Given the description of an element on the screen output the (x, y) to click on. 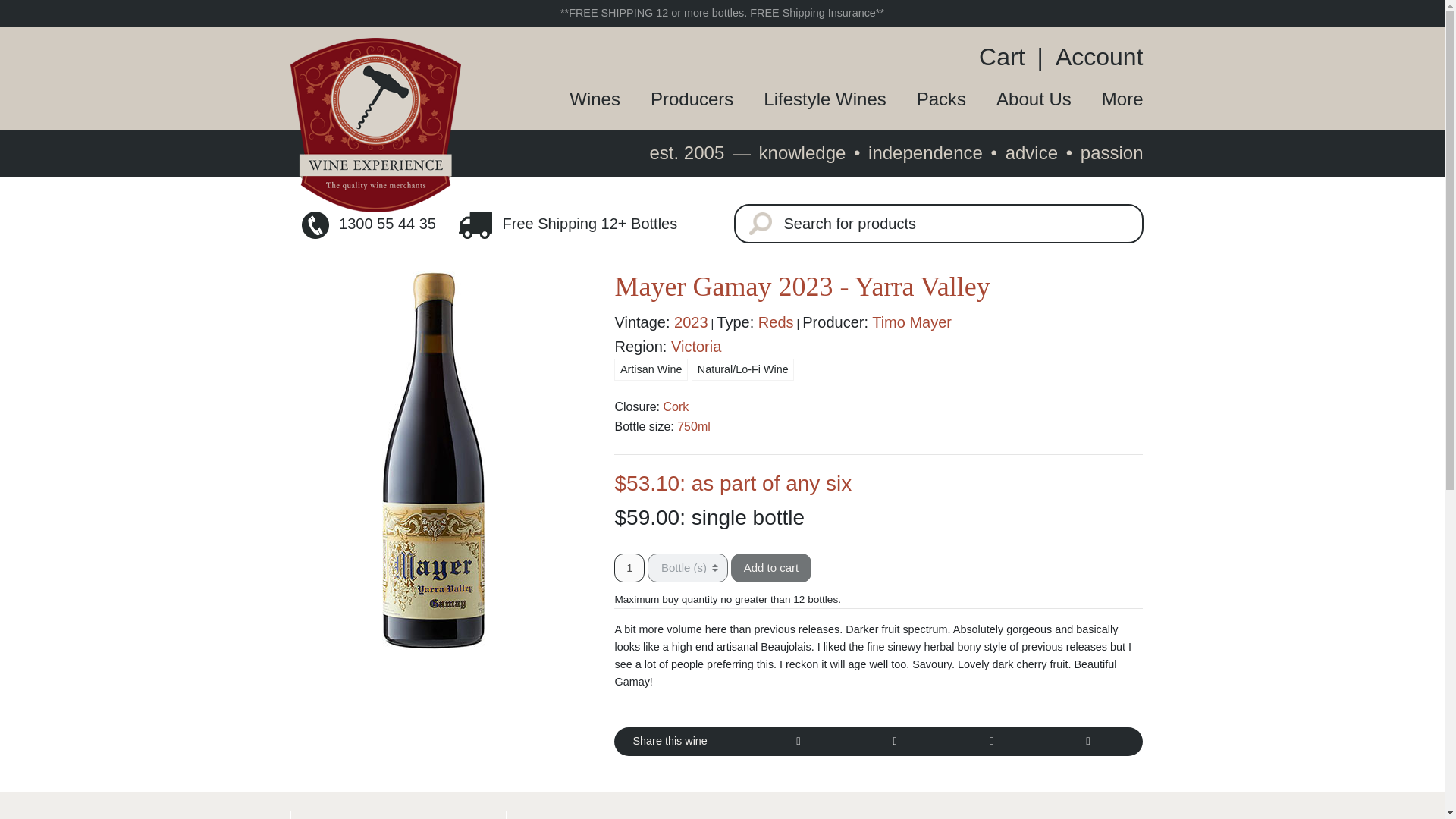
Account (1092, 56)
1 (629, 567)
Wines (579, 98)
Add to cart (771, 567)
Cart (1007, 56)
